Given the description of an element on the screen output the (x, y) to click on. 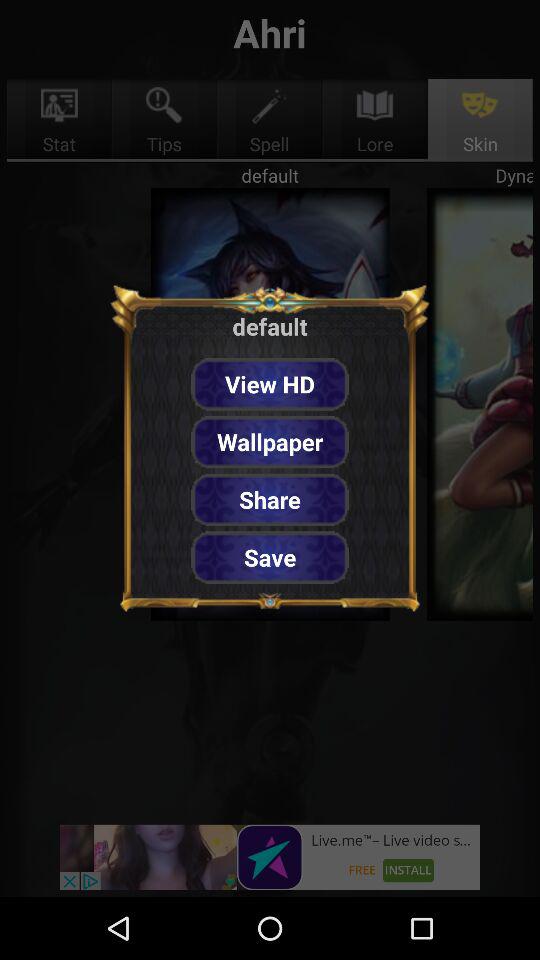
jump until share icon (269, 499)
